Given the description of an element on the screen output the (x, y) to click on. 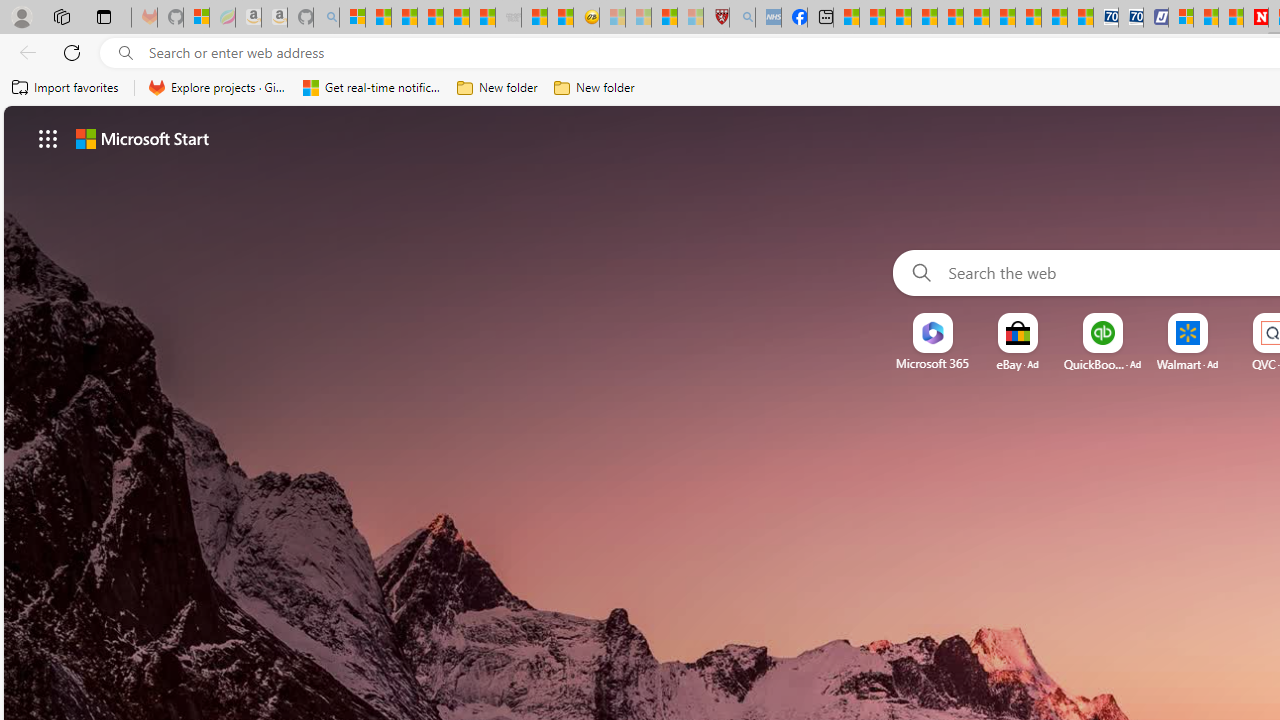
World - MSN (898, 17)
Robert H. Shmerling, MD - Harvard Health (716, 17)
12 Popular Science Lies that Must be Corrected - Sleeping (690, 17)
New folder (594, 88)
New Report Confirms 2023 Was Record Hot | Watch (456, 17)
Cheap Car Rentals - Save70.com (1105, 17)
Newsweek - News, Analysis, Politics, Business, Technology (1256, 17)
